Given the description of an element on the screen output the (x, y) to click on. 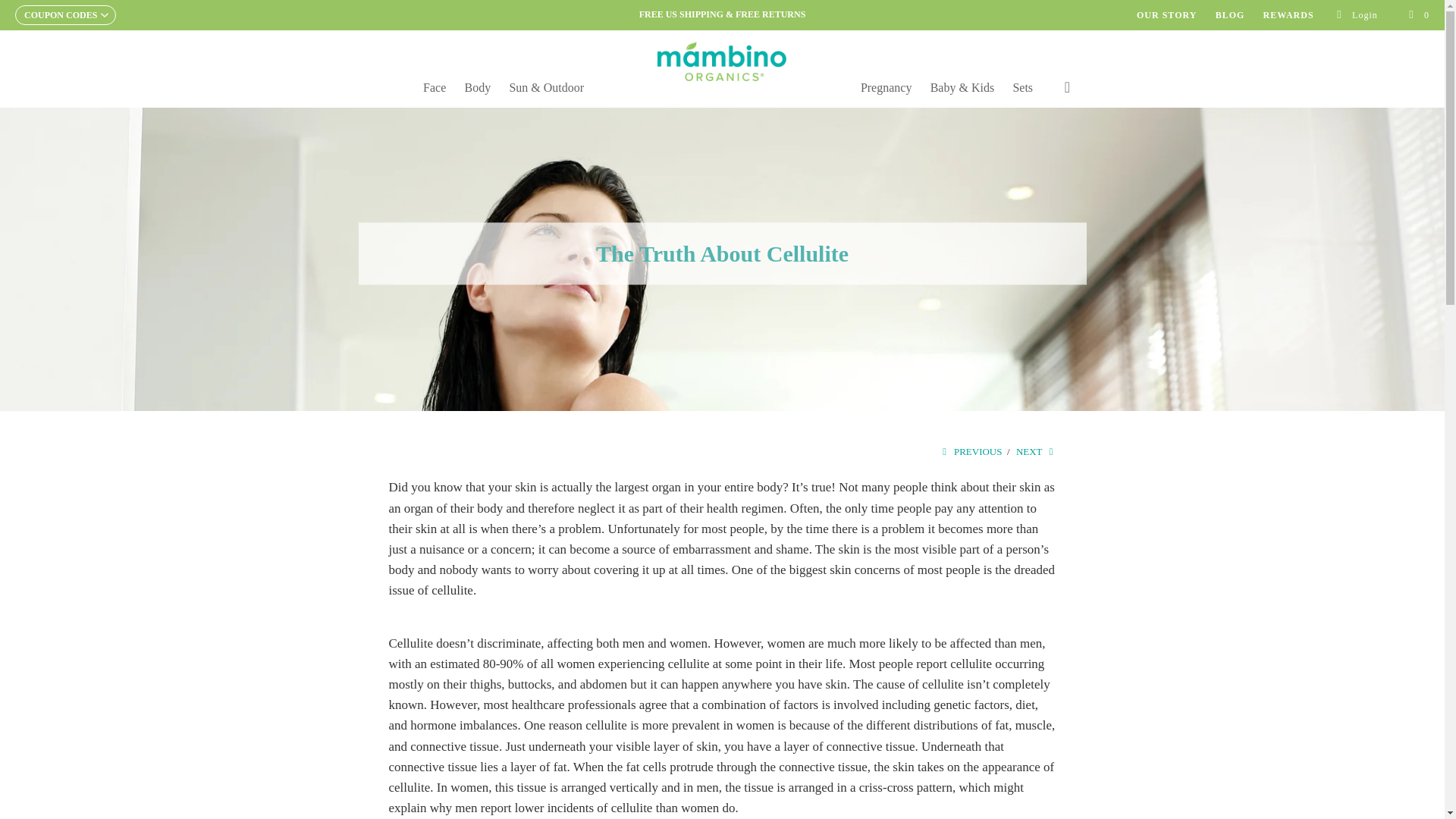
My Account  (1356, 15)
BLOG (1229, 15)
OUR STORY (1166, 15)
Login (1356, 15)
REWARDS (1288, 15)
Mambino Organics (722, 61)
